Given the description of an element on the screen output the (x, y) to click on. 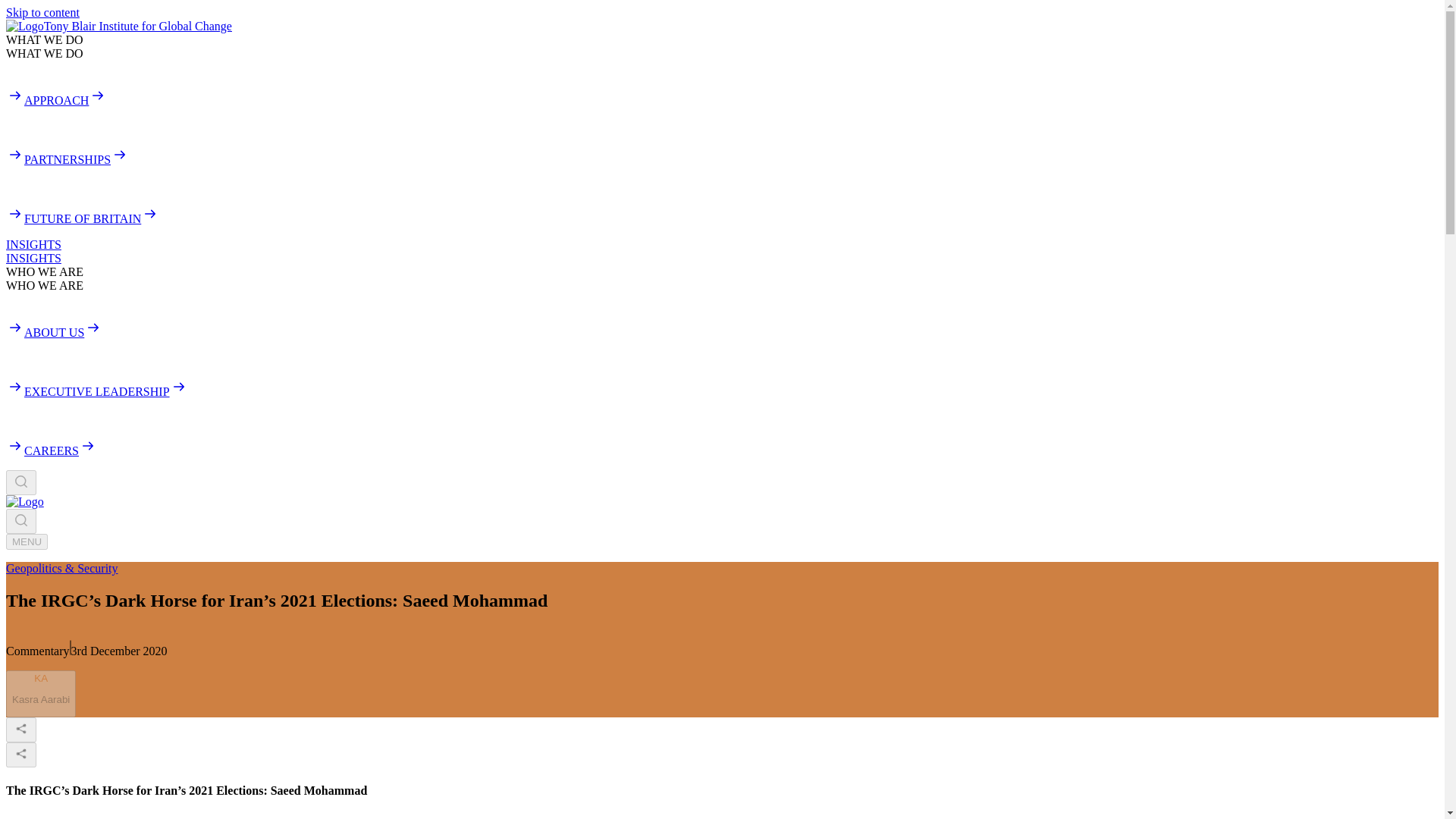
Tony Blair Institute for Global Change (118, 25)
Skip to content (42, 11)
Share (20, 729)
home (24, 501)
MENU (40, 694)
Share (26, 541)
